Given the description of an element on the screen output the (x, y) to click on. 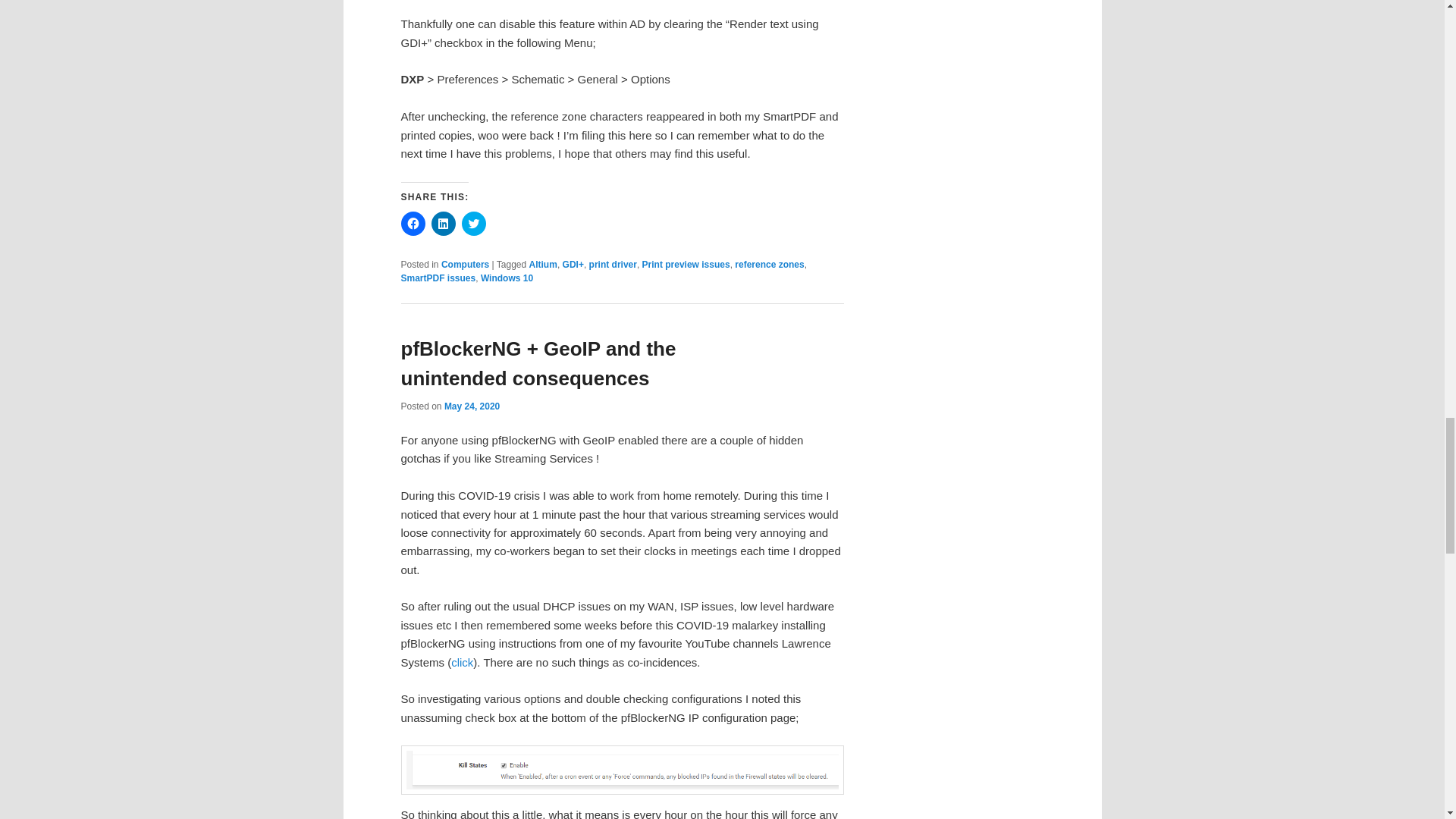
Click to share on LinkedIn (442, 223)
Click to share on Facebook (412, 223)
12:13 pm (471, 406)
Click to share on Twitter (472, 223)
